Given the description of an element on the screen output the (x, y) to click on. 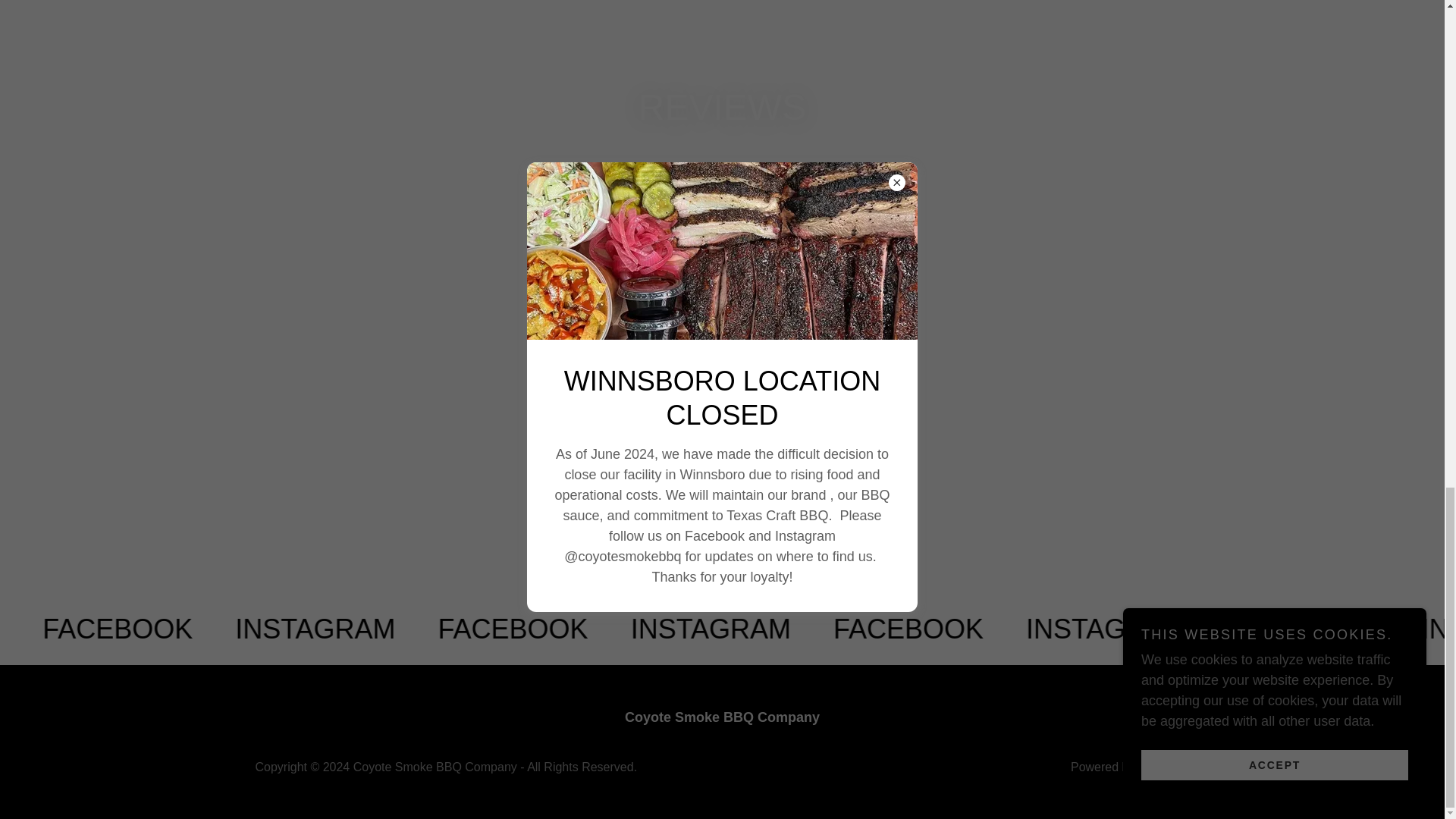
INSTAGRAM (639, 628)
FACEBOOK (443, 628)
FACEBOOK (1228, 628)
GoDaddy (1163, 766)
FACEBOOK (835, 628)
INSTAGRAM (245, 628)
FACEBOOK (62, 628)
INSTAGRAM (1030, 628)
